Given the description of an element on the screen output the (x, y) to click on. 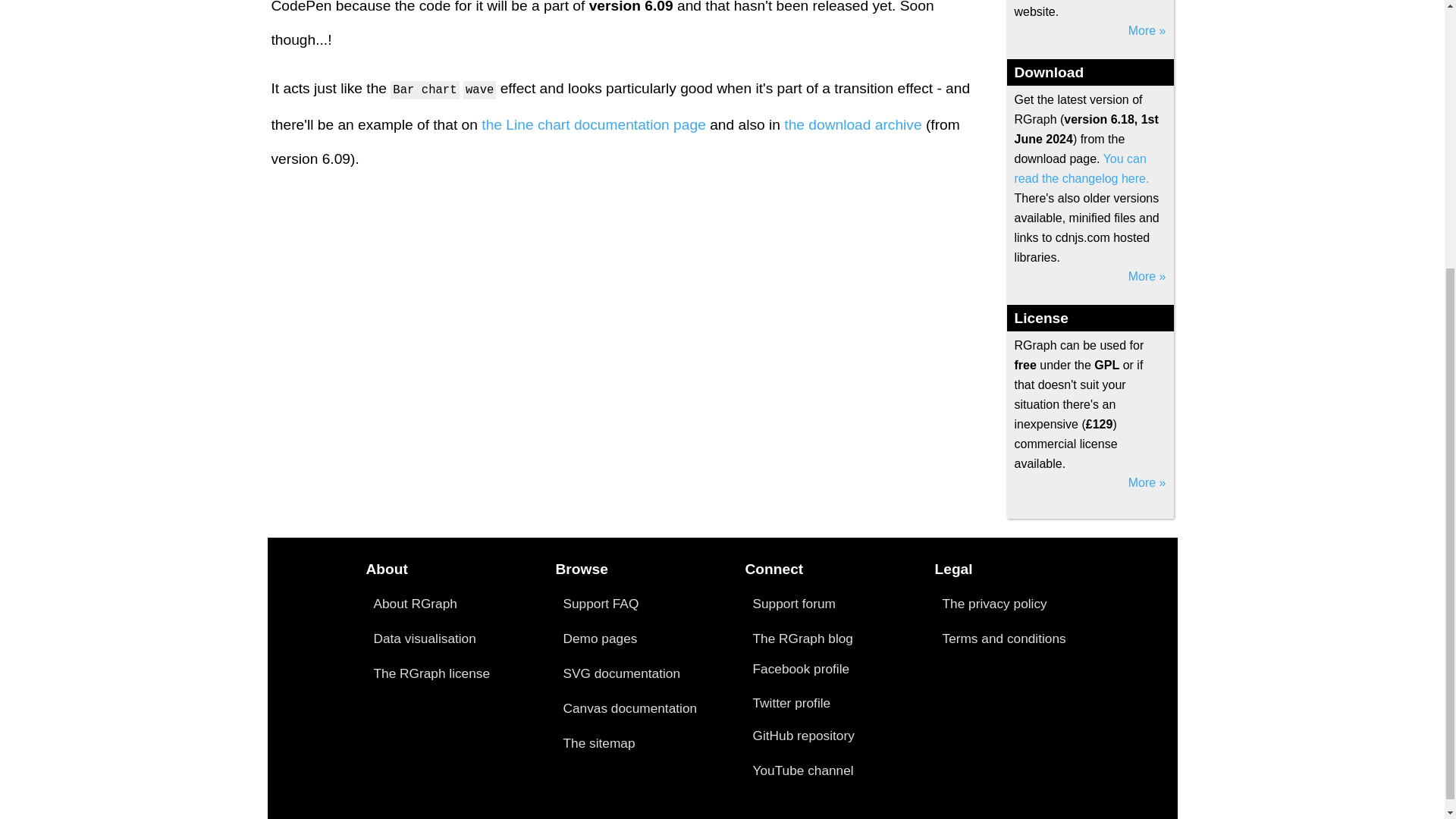
SVG documentation (620, 672)
the download archive (852, 124)
Canvas documentation (629, 708)
You can read the changelog here. (1082, 168)
Data visualisation (424, 638)
the Line chart documentation page (593, 124)
Support FAQ (600, 603)
About RGraph (414, 603)
Demo pages (599, 638)
The RGraph license (430, 672)
